Given the description of an element on the screen output the (x, y) to click on. 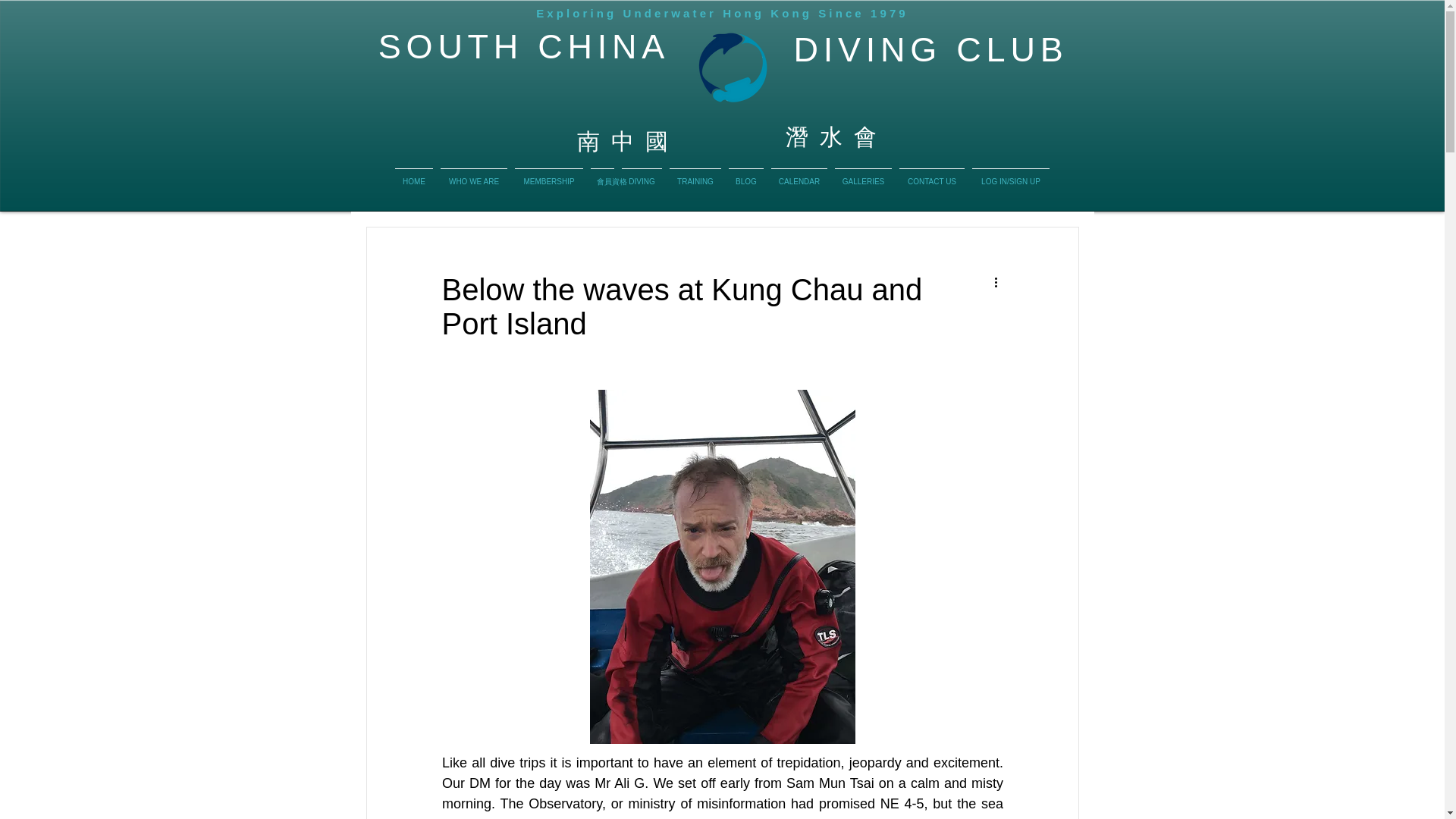
DIVING (641, 174)
BLOG (746, 174)
CALENDAR (799, 174)
HOME (413, 174)
WHO WE ARE (473, 174)
MEMBERSHIP (548, 174)
CONTACT US (931, 174)
GALLERIES (863, 174)
TRAINING (695, 174)
